Given the description of an element on the screen output the (x, y) to click on. 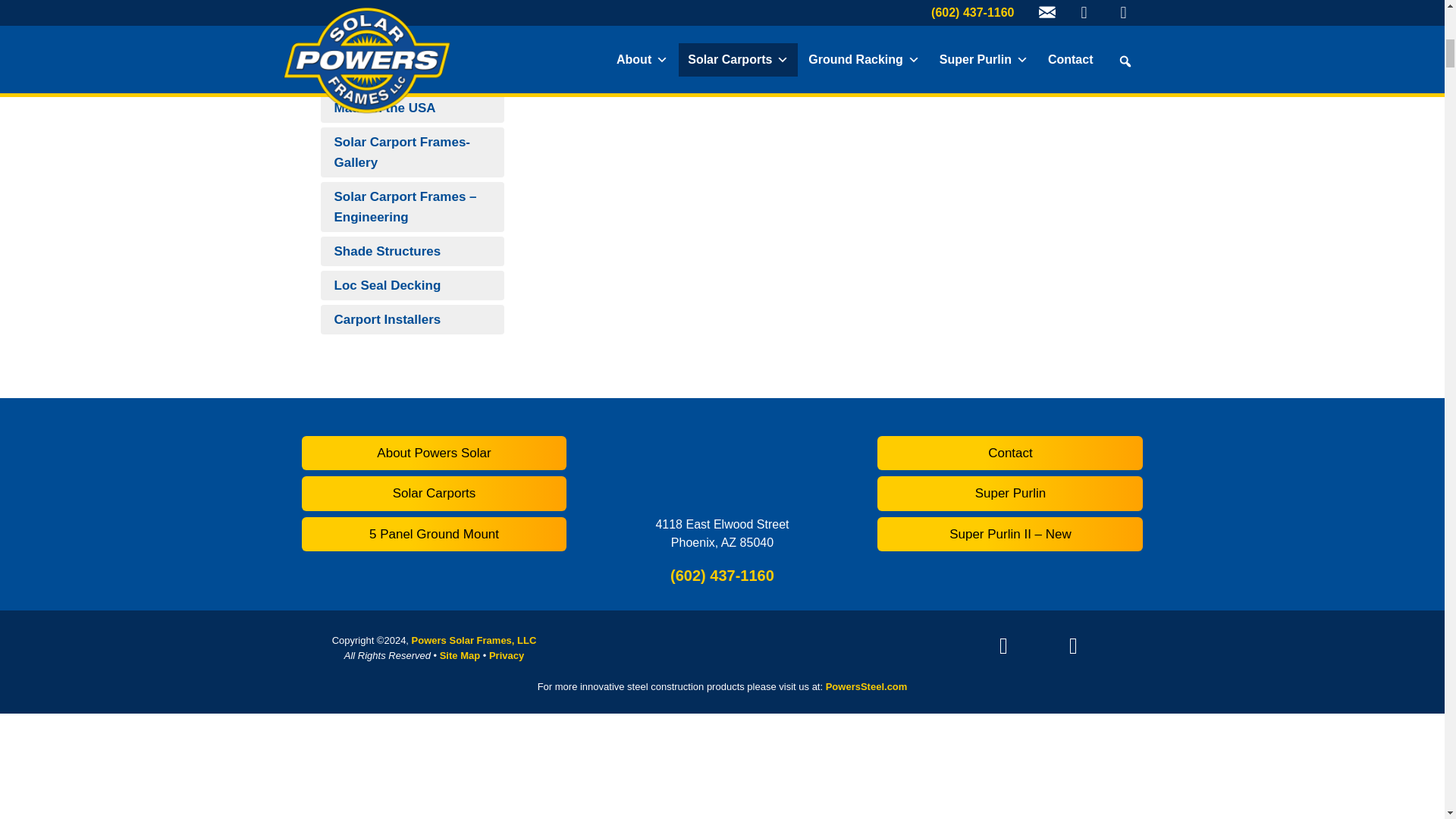
Instagram (1003, 642)
Email Us (940, 650)
Email Us (940, 644)
youtube (1072, 642)
